Given the description of an element on the screen output the (x, y) to click on. 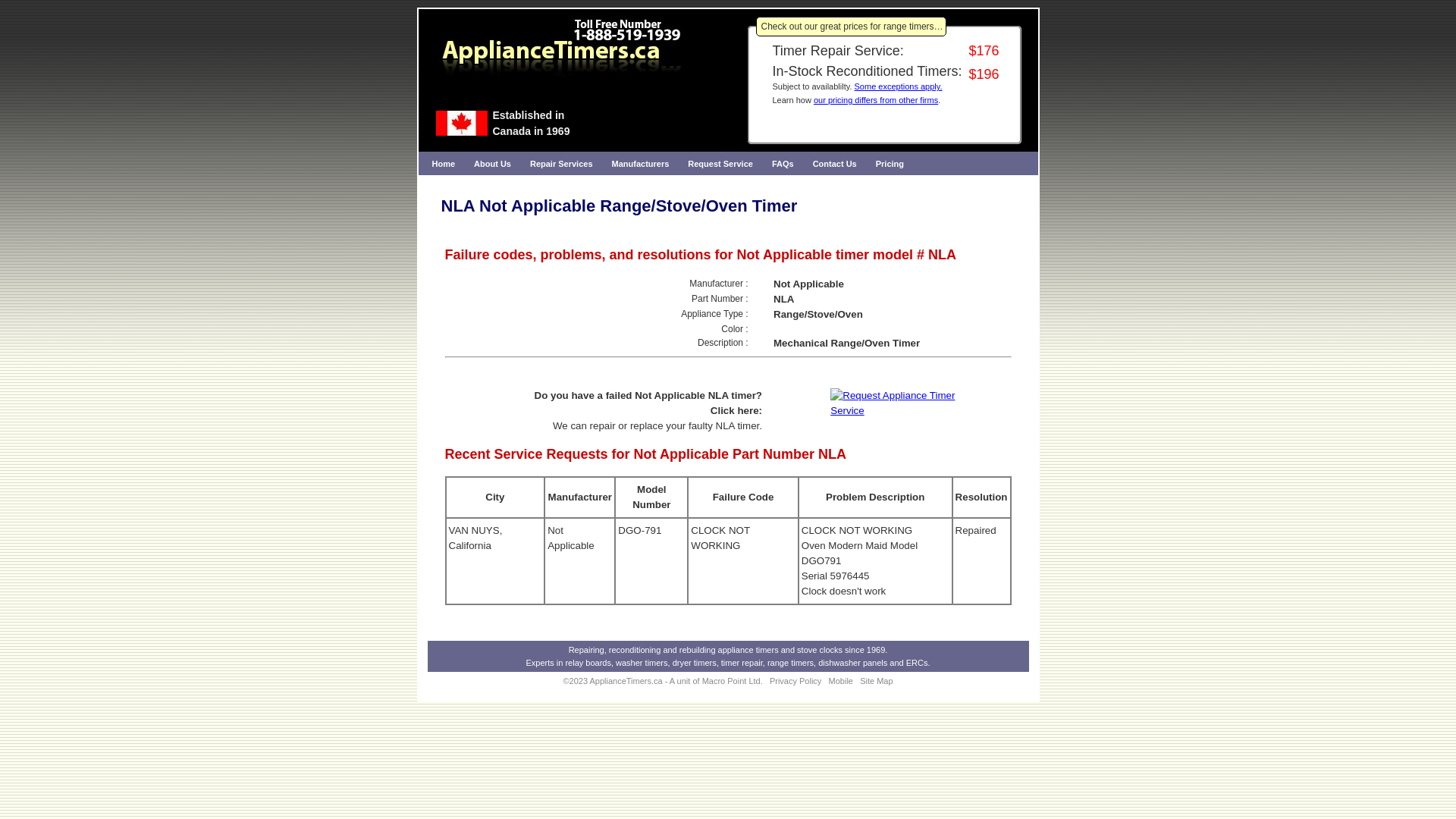
About Us Element type: text (492, 163)
Mobile Element type: text (840, 680)
Request Service Element type: text (720, 163)
FAQs Element type: text (782, 163)
Pricing Element type: text (889, 163)
Repair Services Element type: text (561, 163)
Some exceptions apply. Element type: text (898, 86)
Manufacturers Element type: text (640, 163)
Site Map Element type: text (875, 680)
Repairing, reconditioning and rebuilding appliance timers Element type: text (673, 649)
Contact Us Element type: text (834, 163)
our pricing differs from other firms Element type: text (875, 99)
Home Element type: text (443, 163)
Privacy Policy Element type: text (795, 680)
